Given the description of an element on the screen output the (x, y) to click on. 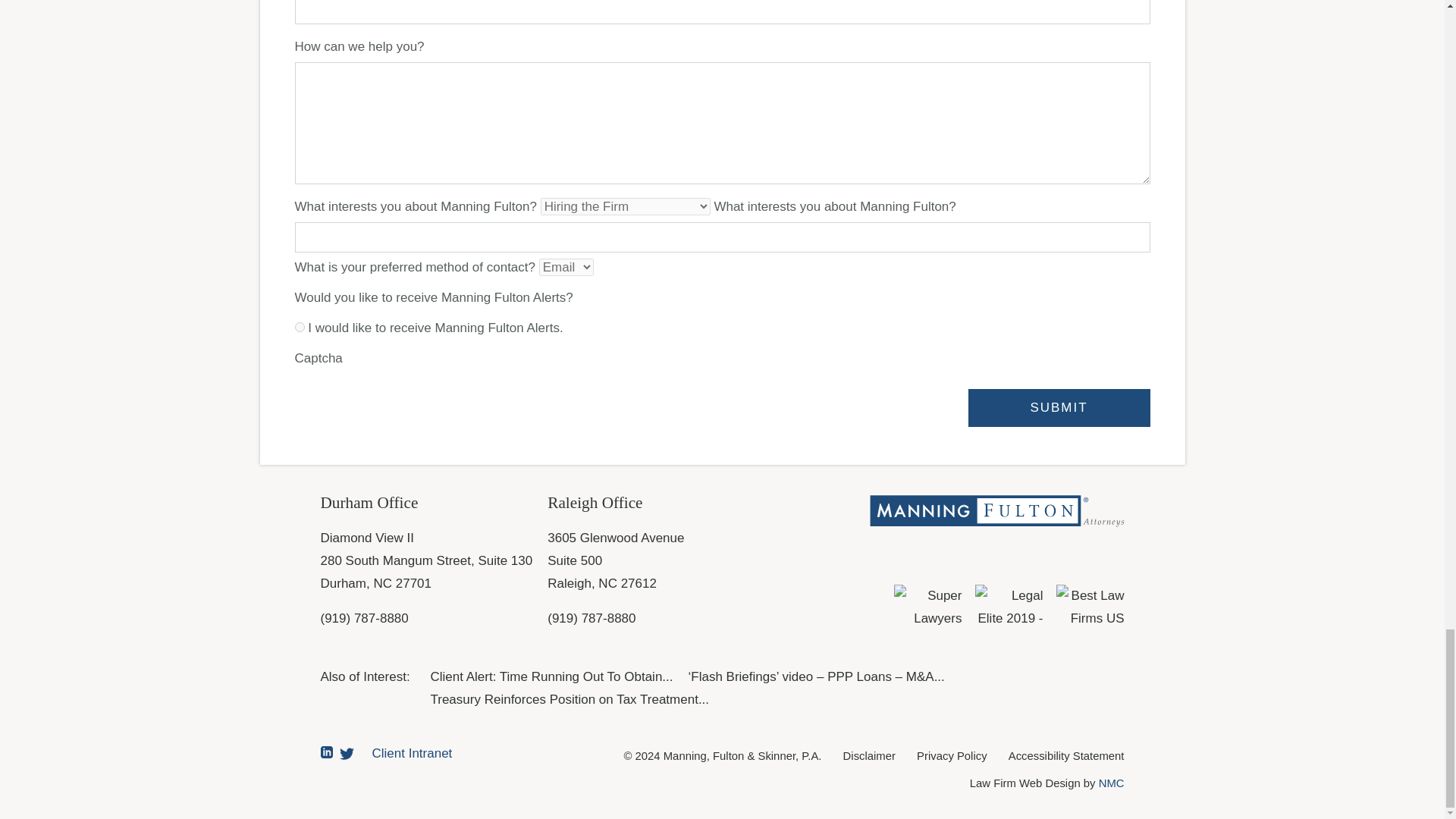
Share on LinkedIn (325, 752)
I would like to receive Manning Fulton Alerts. (299, 327)
Share on Twitter (346, 753)
